Given the description of an element on the screen output the (x, y) to click on. 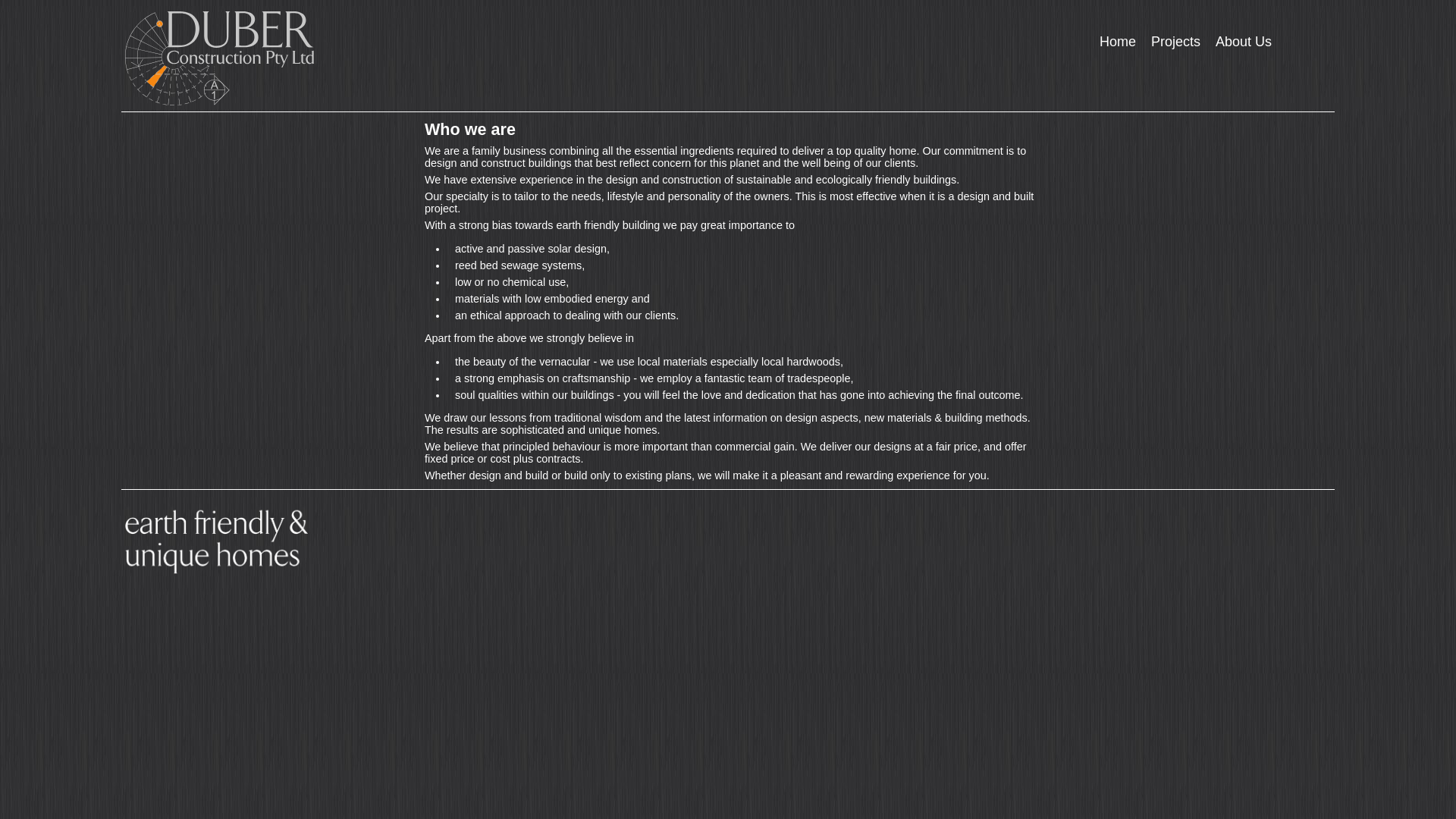
About Us Element type: text (1243, 41)
Home Element type: text (1117, 41)
Projects Element type: text (1175, 41)
